Given the description of an element on the screen output the (x, y) to click on. 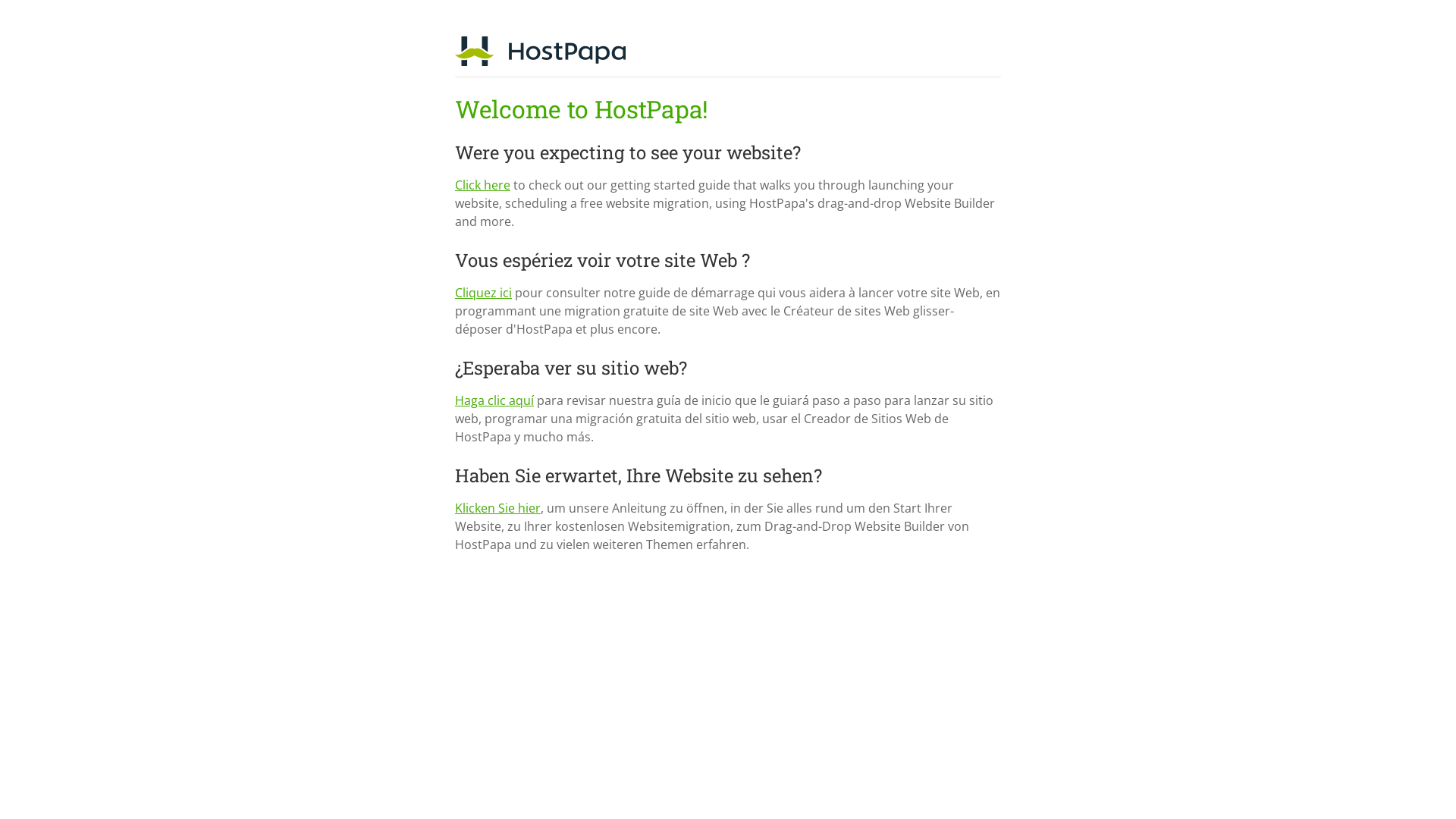
Cliquez ici Element type: text (483, 292)
Klicken Sie hier Element type: text (497, 507)
Click here Element type: text (482, 184)
